Given the description of an element on the screen output the (x, y) to click on. 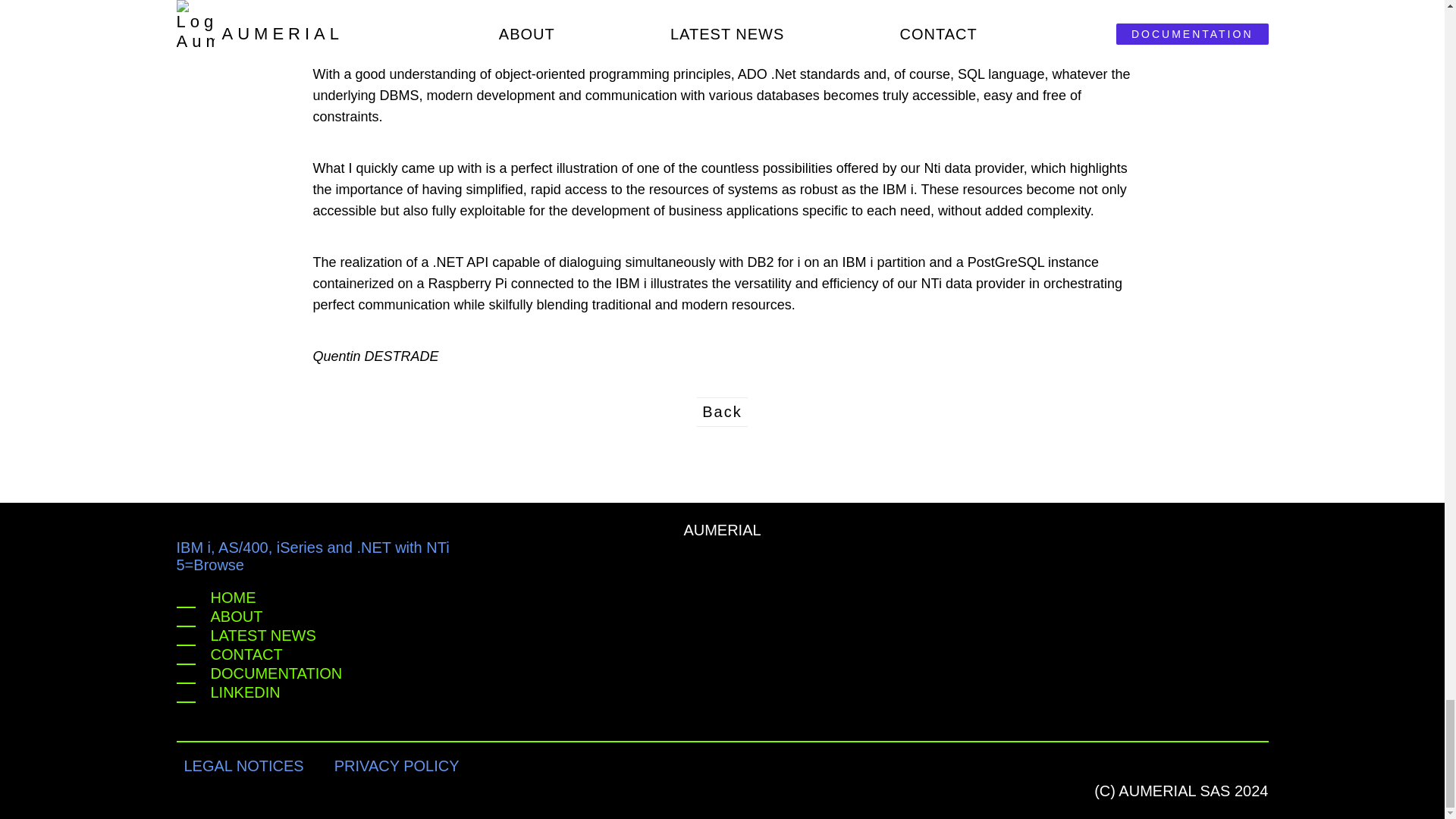
LATEST NEWS (722, 636)
LINKEDIN (722, 692)
PRIVACY POLICY (396, 765)
ABOUT (722, 617)
LEGAL NOTICES (243, 765)
HOME (722, 598)
CONTACT (722, 655)
DOCUMENTATION (722, 674)
Back (721, 411)
